Given the description of an element on the screen output the (x, y) to click on. 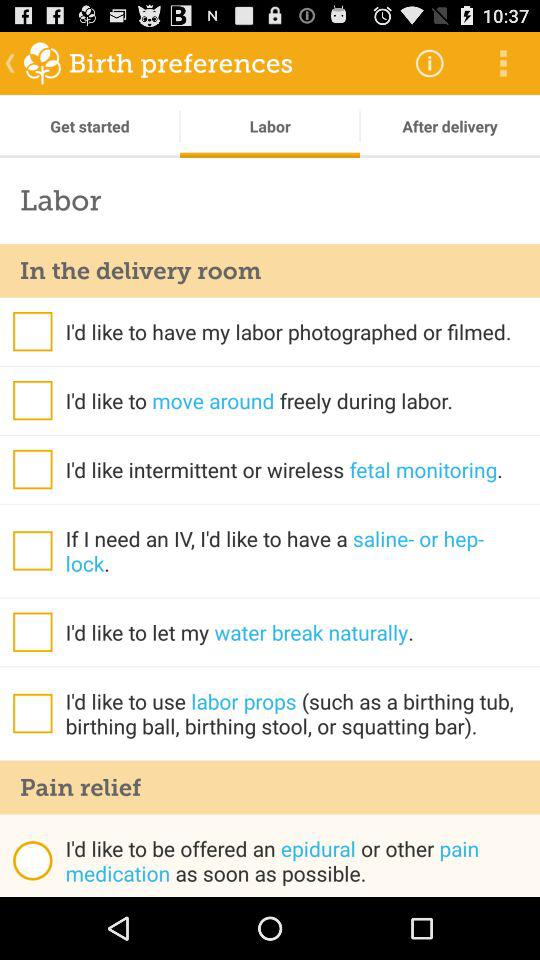
check box (32, 469)
